Given the description of an element on the screen output the (x, y) to click on. 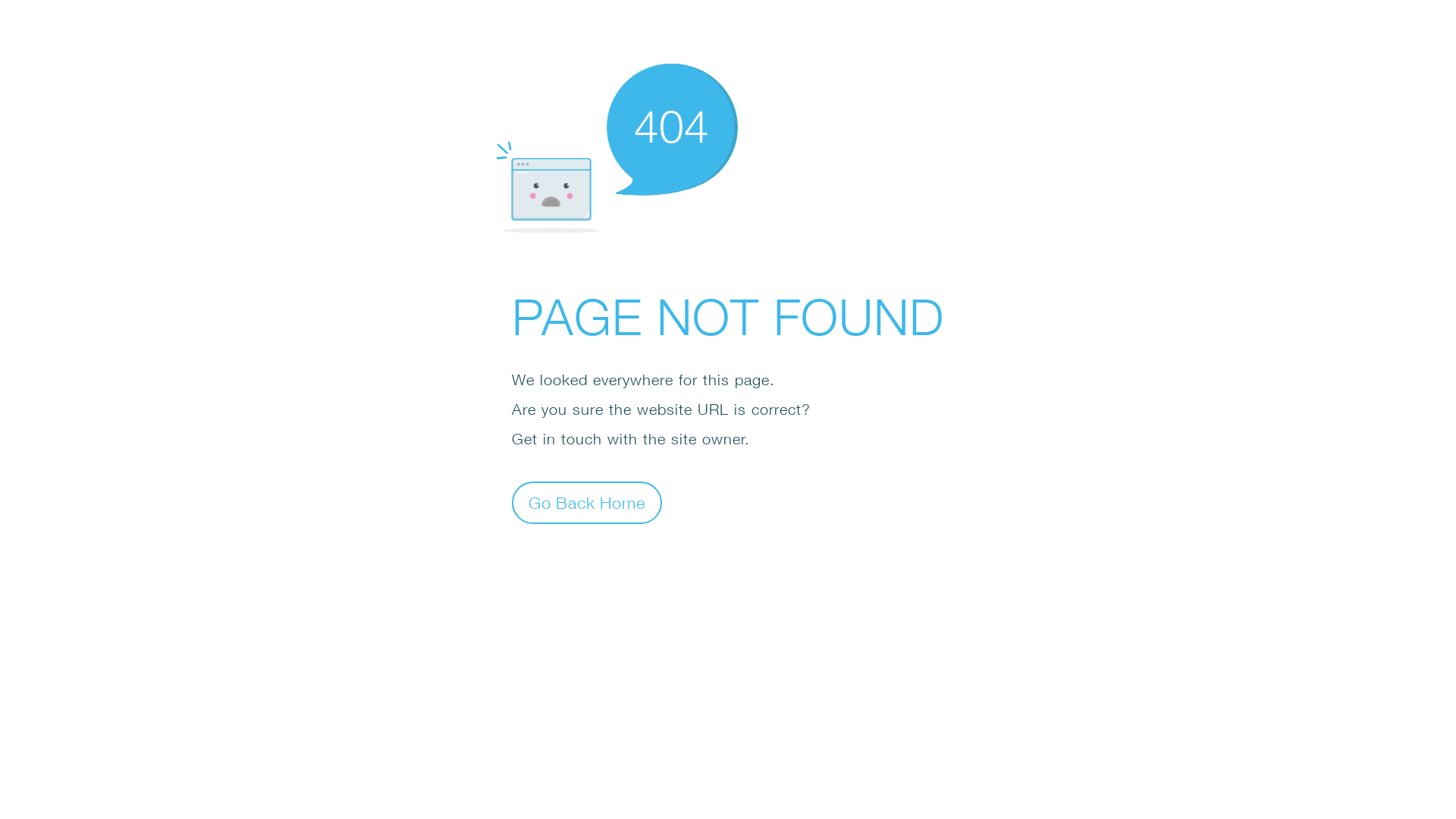
Go Back Home Element type: text (586, 502)
